Given the description of an element on the screen output the (x, y) to click on. 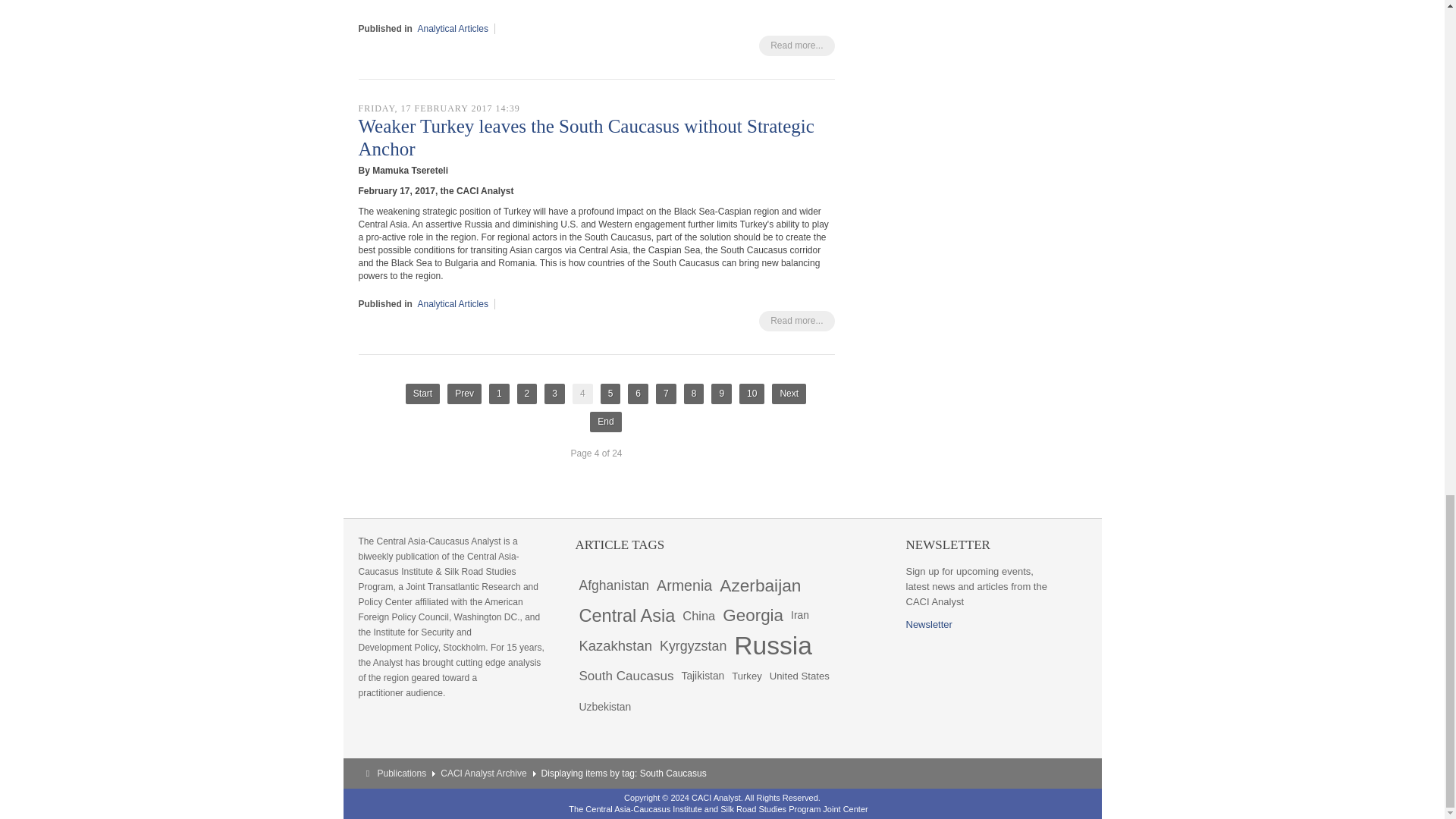
7 (666, 394)
5 (610, 394)
Prev (463, 394)
Prev (463, 394)
Next (788, 394)
4 (582, 394)
Analytical Articles (452, 303)
7 (666, 394)
9 (721, 394)
8 (694, 394)
Read more... (796, 321)
3 (554, 394)
2 (526, 394)
6 (637, 394)
1 (499, 394)
